Given the description of an element on the screen output the (x, y) to click on. 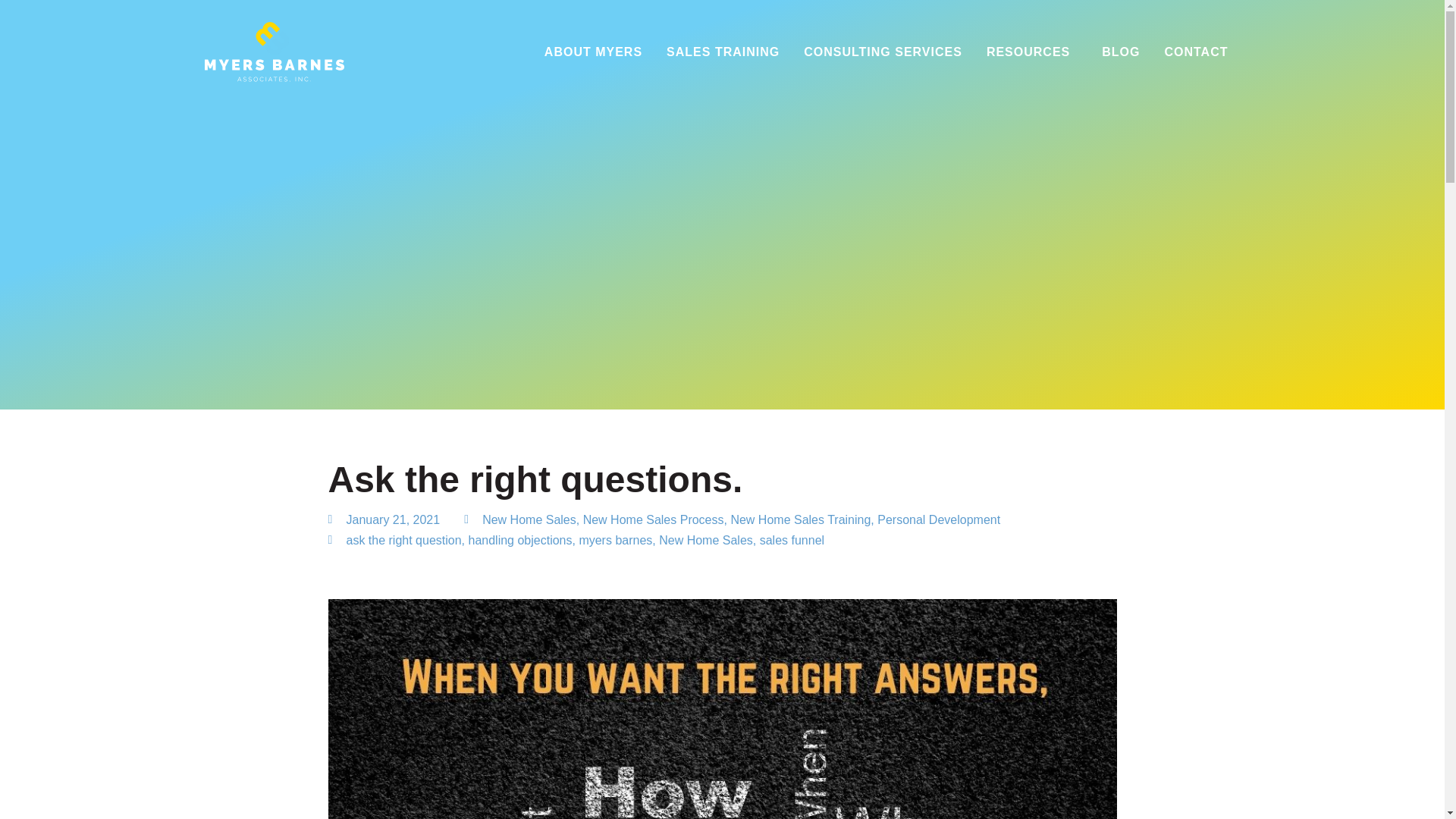
ABOUT MYERS (592, 52)
CONSULTING SERVICES (883, 52)
ask the right question (403, 540)
SALES TRAINING (722, 52)
handling objections (519, 540)
sales funnel (792, 540)
New Home Sales Process (653, 519)
New Home Sales (705, 540)
RESOURCES (1031, 52)
CONTACT (1195, 52)
New Home Sales (528, 519)
BLOG (1120, 52)
January 21, 2021 (383, 519)
Personal Development (938, 519)
New Home Sales Training (800, 519)
